Given the description of an element on the screen output the (x, y) to click on. 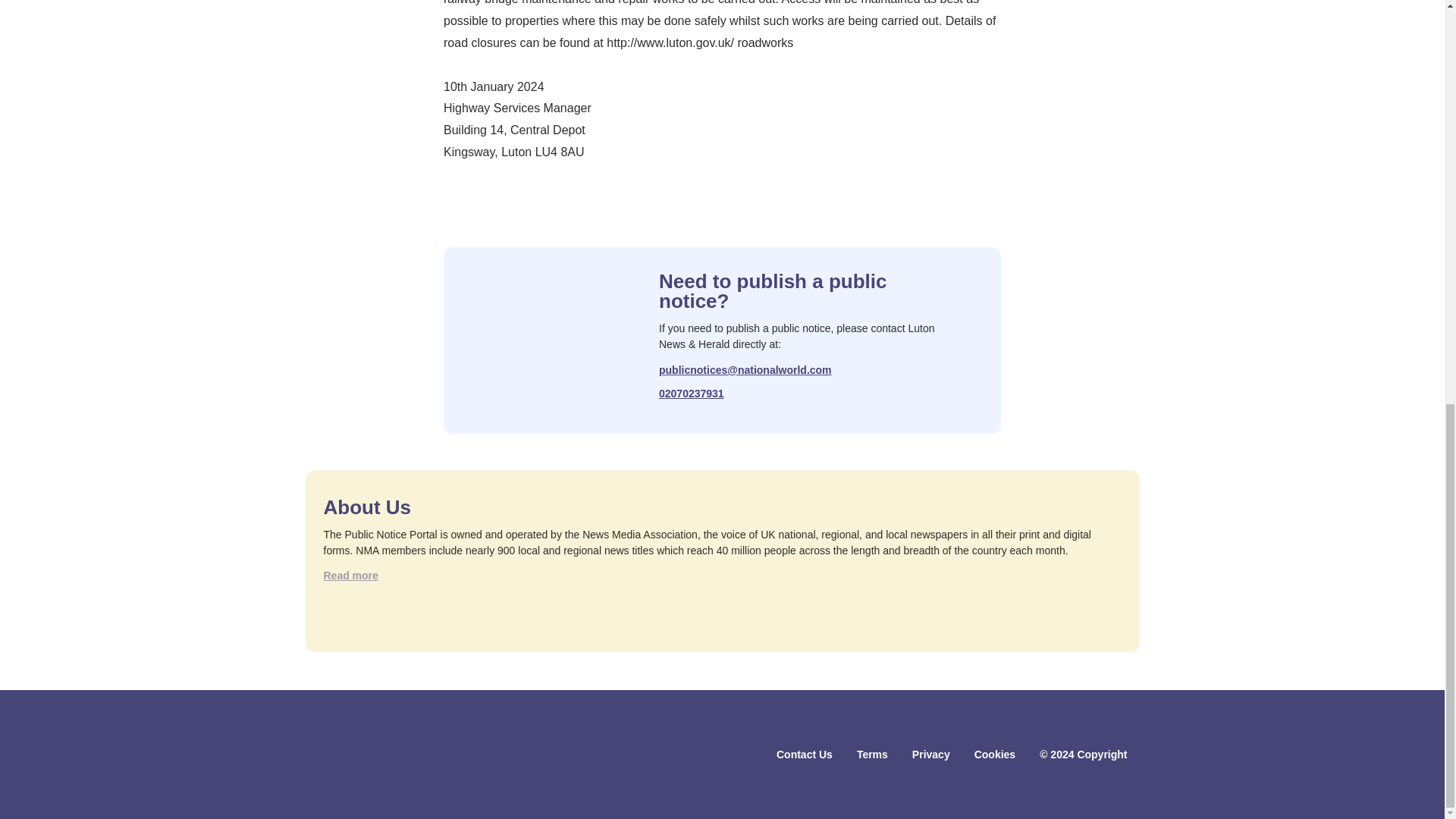
Privacy (931, 754)
Cookies (994, 754)
Read more (350, 575)
Contact Us (804, 754)
02070237931 (691, 393)
Terms (872, 754)
